Given the description of an element on the screen output the (x, y) to click on. 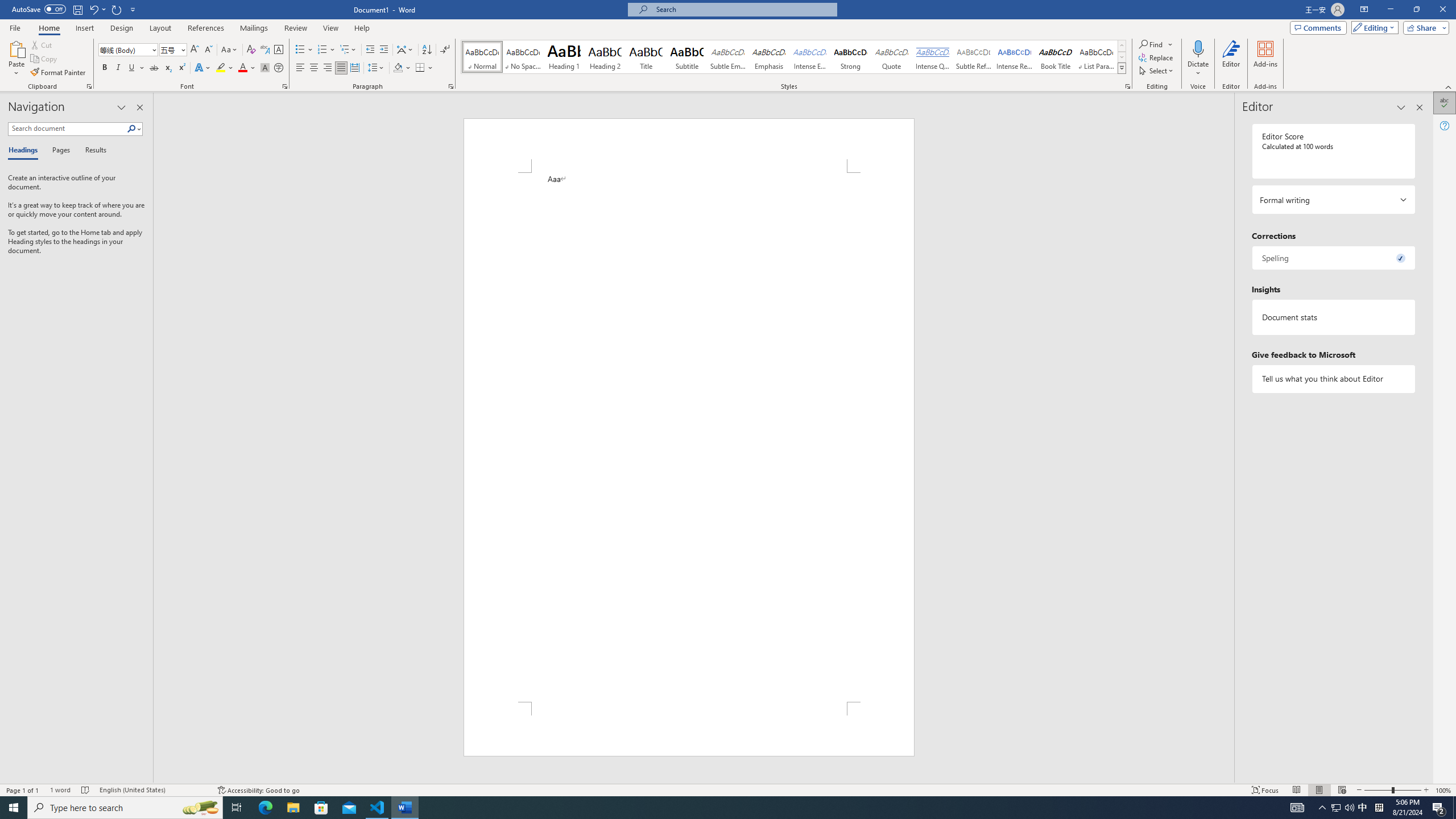
Accessibility Checker Accessibility: Good to go (258, 790)
Text Effects and Typography (202, 67)
Search document (66, 128)
Bold (104, 67)
Heading 1 (564, 56)
Heading 2 (605, 56)
Subtle Emphasis (727, 56)
Text Highlight Color Yellow (220, 67)
